Given the description of an element on the screen output the (x, y) to click on. 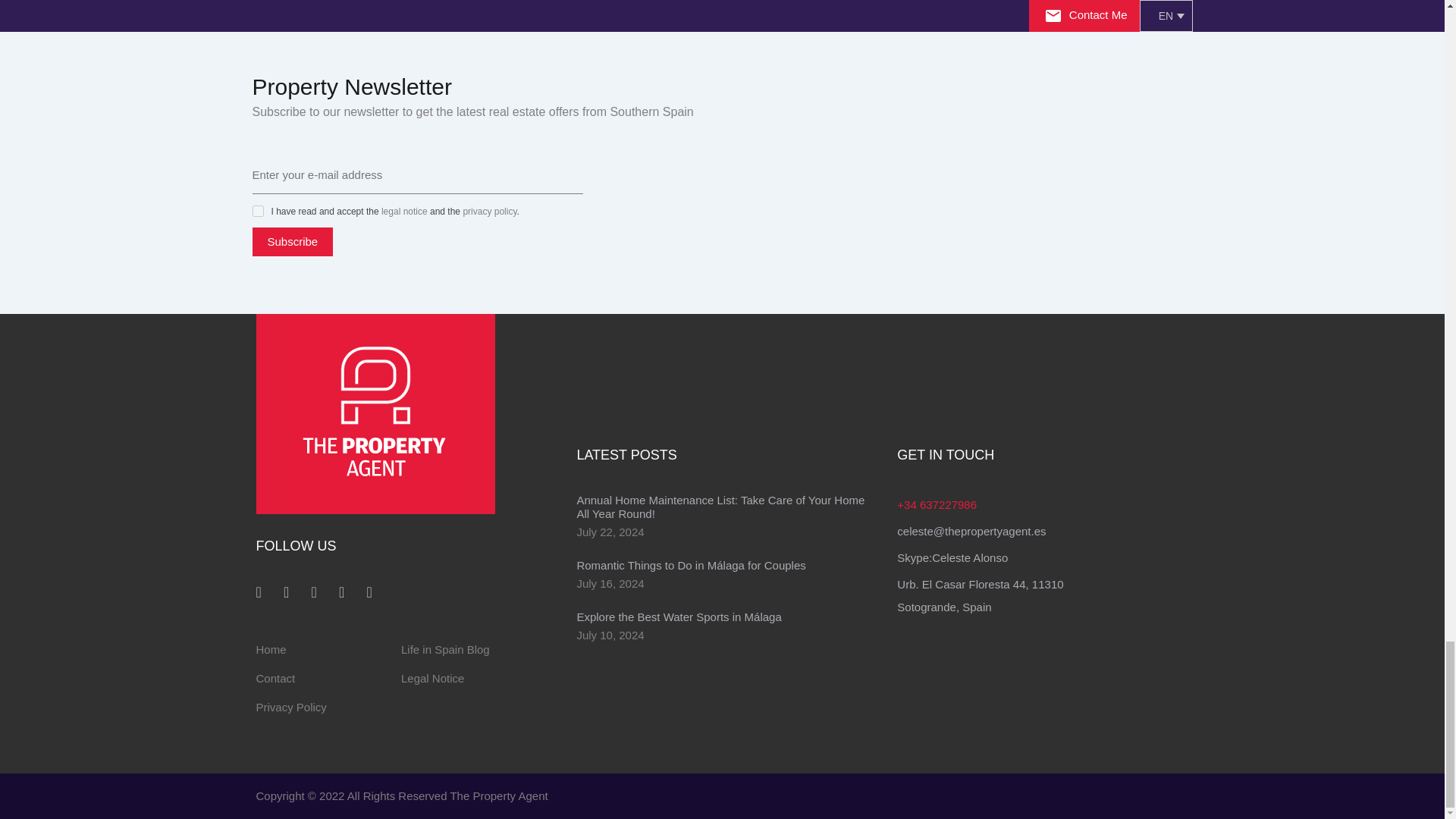
on (257, 211)
